Given the description of an element on the screen output the (x, y) to click on. 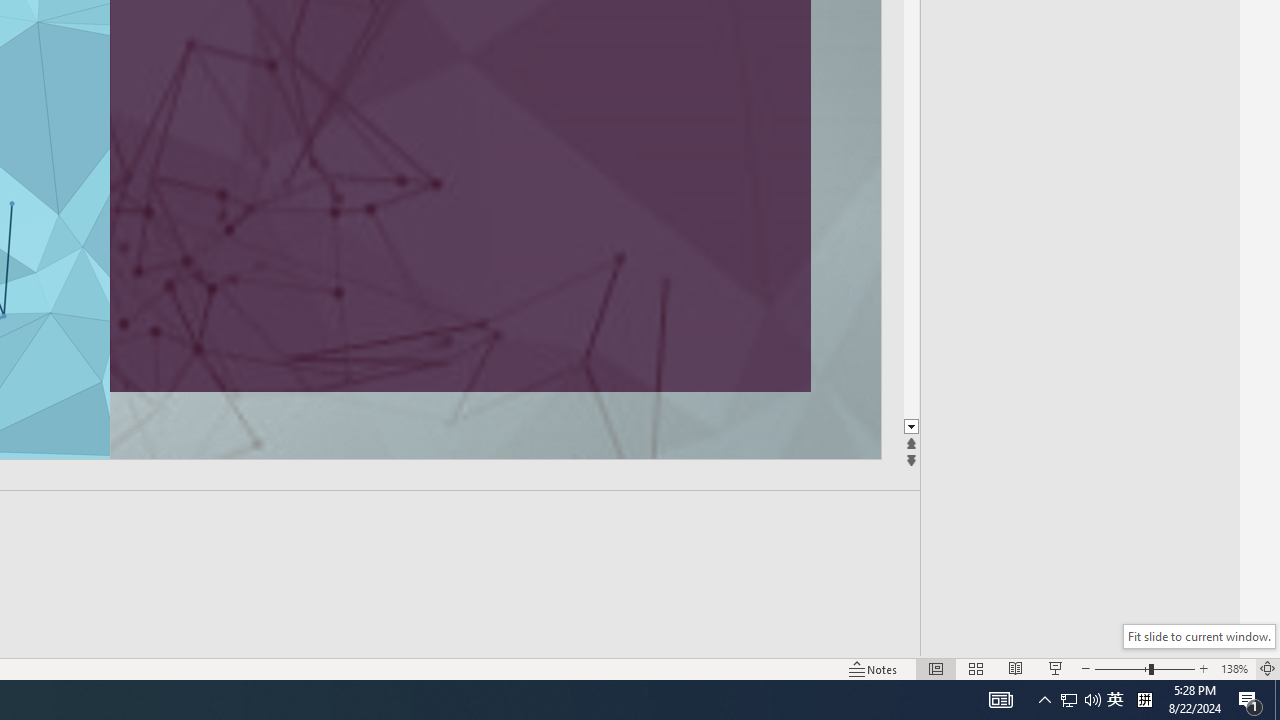
Fit slide to current window. (1199, 636)
Zoom 138% (1234, 668)
